Given the description of an element on the screen output the (x, y) to click on. 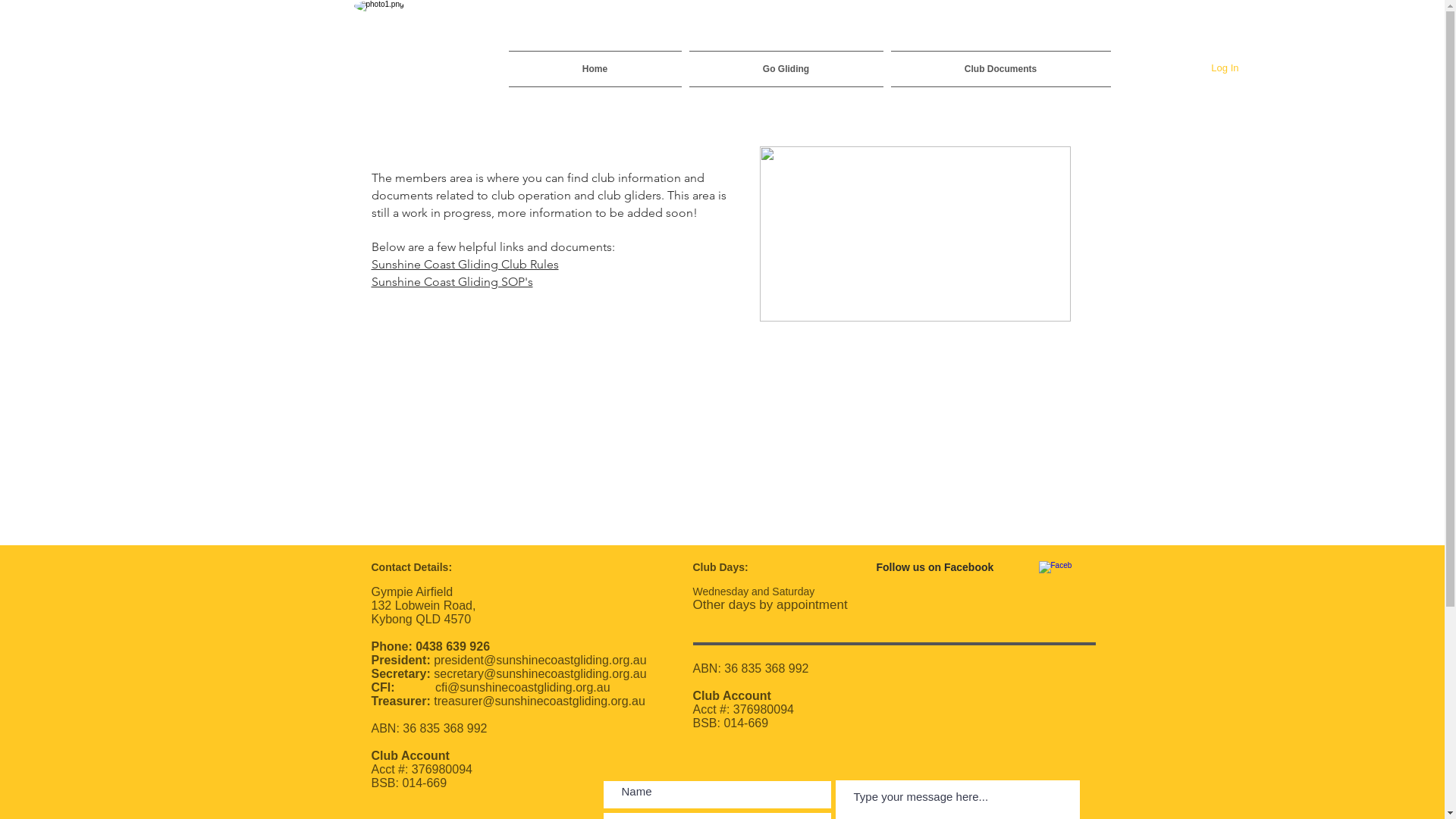
president@sunshinecoastgliding.org.au Element type: text (539, 659)
Home Element type: text (596, 68)
Sunshine Coast Gliding SOP's Element type: text (452, 280)
Gympie 8000ft.jpg Element type: hover (914, 233)
Sunshine Coast Gliding Club Rules Element type: text (464, 263)
Go Gliding Element type: text (786, 68)
Club Documents Element type: text (998, 68)
Log In Element type: text (1224, 67)
